Given the description of an element on the screen output the (x, y) to click on. 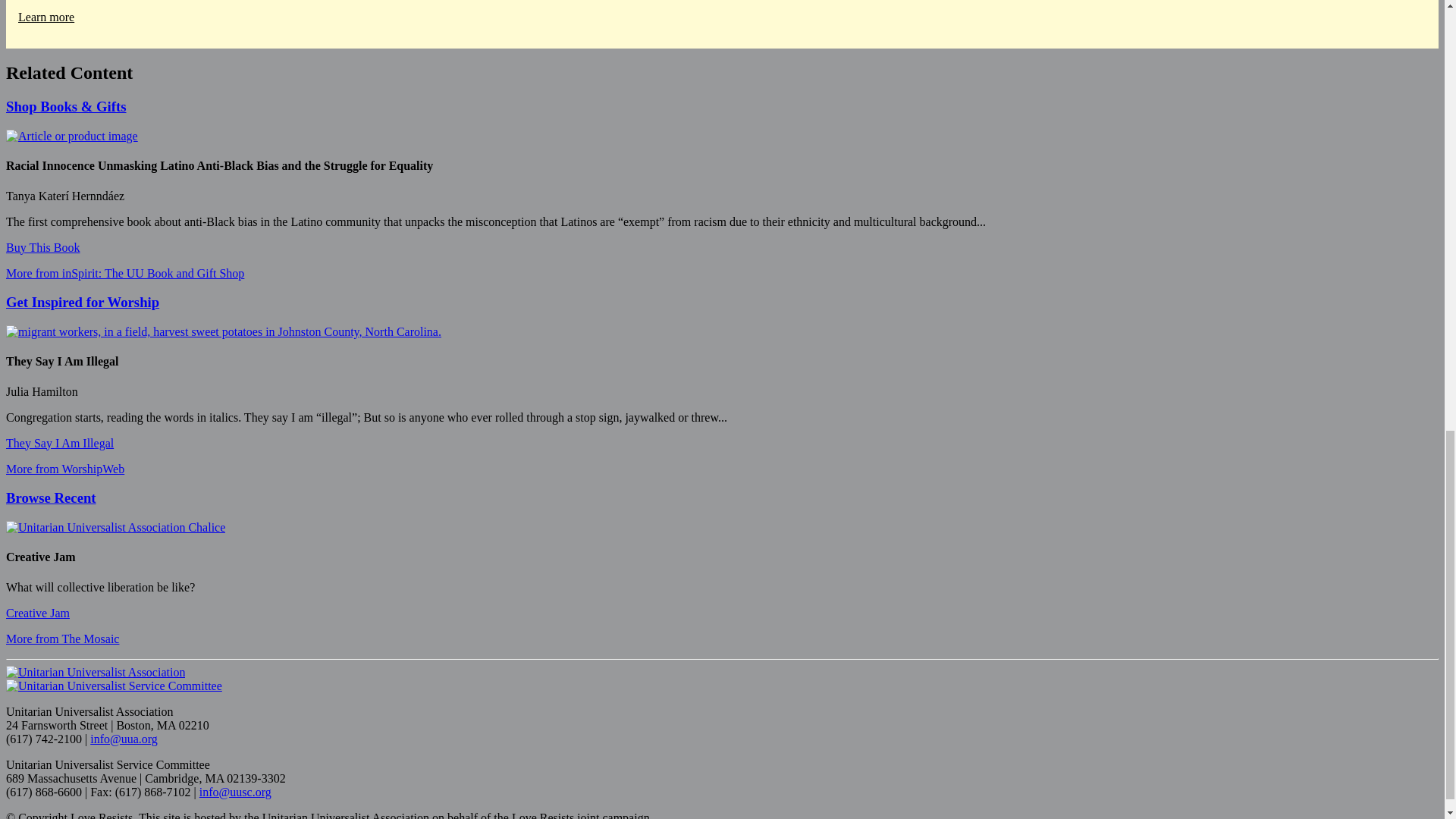
Learn more (45, 16)
More from inSpirit: The UU Book and Gift Shop (124, 273)
Copyright UUA (115, 527)
More from The Mosaic (62, 638)
They Say I Am Illegal (59, 442)
Unitarian Universalist Service Committee Home (113, 685)
Creative Jam (37, 612)
Buy This Book (42, 246)
More from WorshipWeb (64, 468)
